Given the description of an element on the screen output the (x, y) to click on. 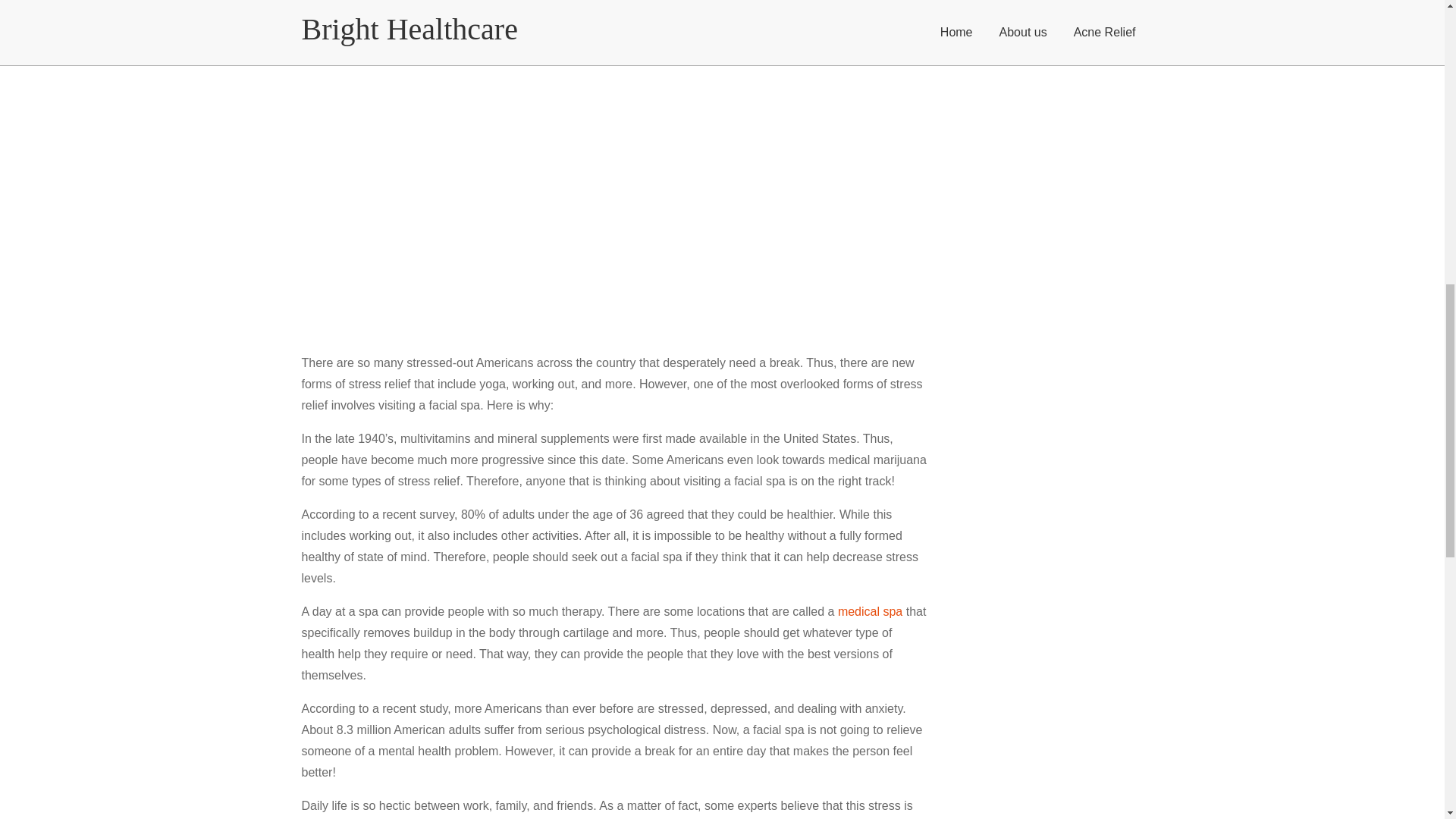
Hydrafacial dallas, Iv bar (870, 611)
medical spa (870, 611)
